Given the description of an element on the screen output the (x, y) to click on. 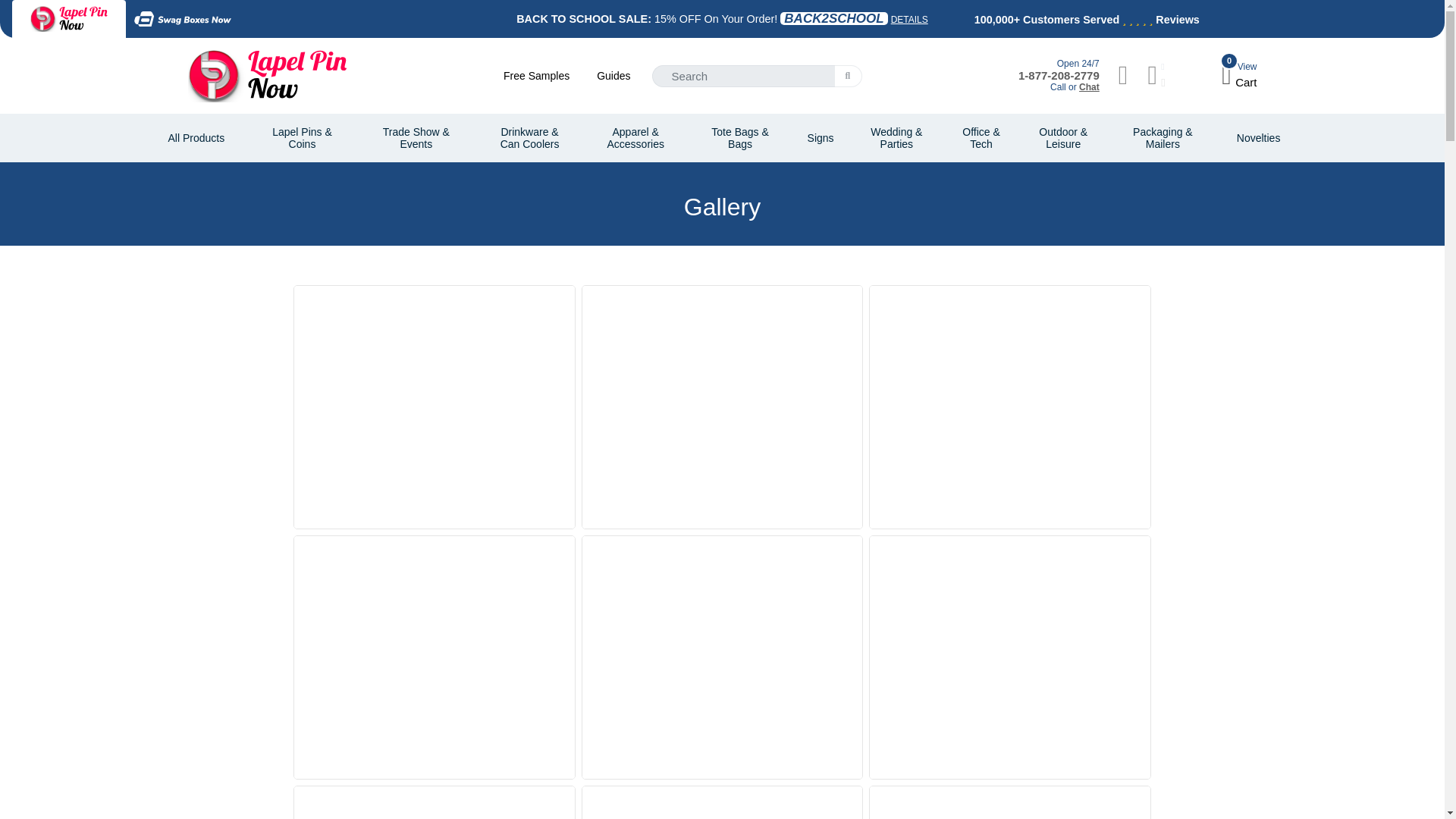
1-877-208-2779 (1058, 74)
DETAILS (909, 19)
Free Samples (536, 75)
All Products (195, 137)
Chat (1088, 86)
Guides (1238, 75)
Swag Boxes Now (613, 75)
